Given the description of an element on the screen output the (x, y) to click on. 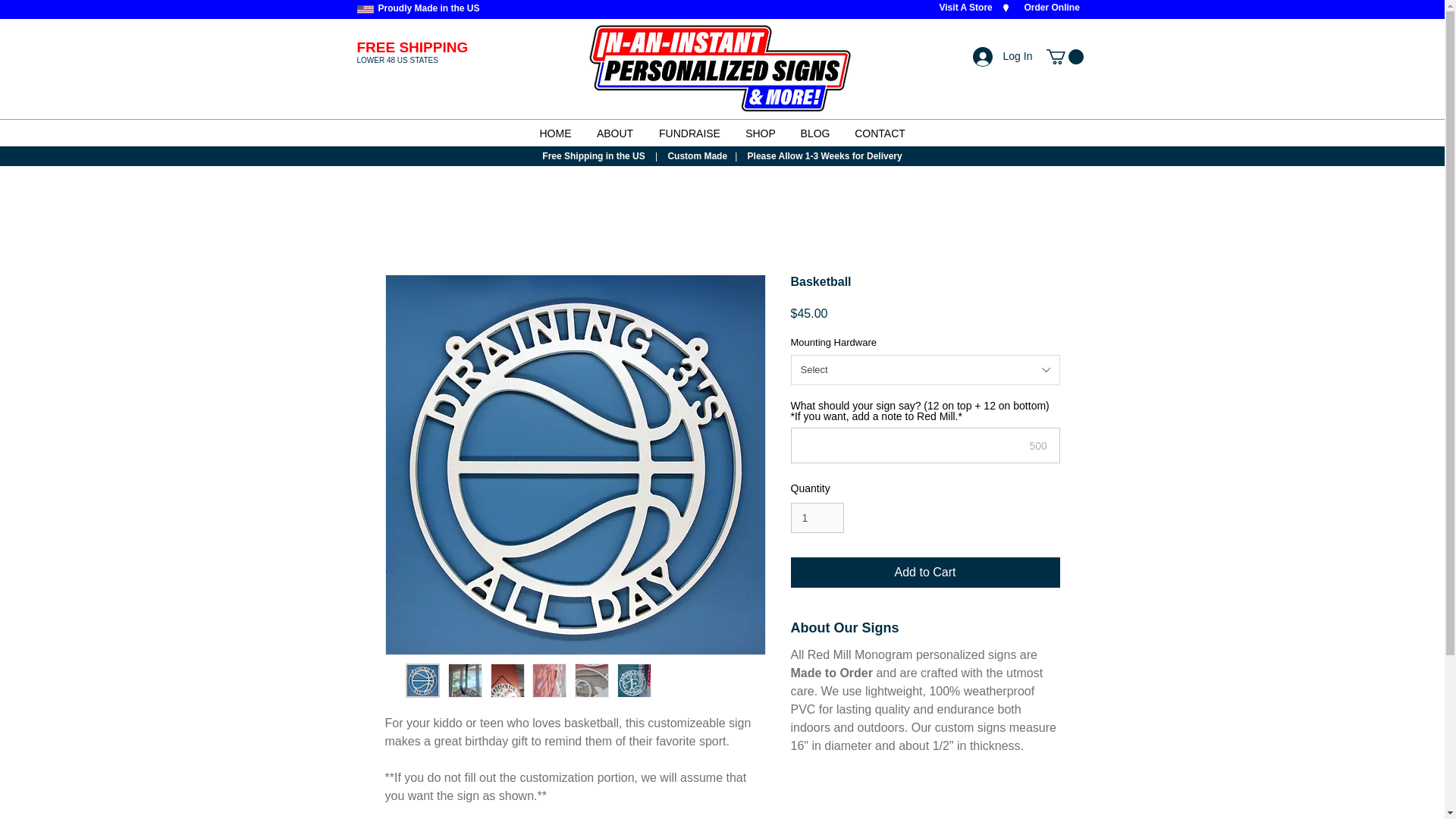
CONTACT (880, 133)
Order Online (1050, 7)
ABOUT (614, 133)
BLOG (815, 133)
HOME (555, 133)
1 (817, 517)
SHOP (760, 133)
Add to Cart (924, 572)
Log In (991, 56)
Select (924, 369)
FUNDRAISE (689, 133)
Visit A Store (965, 7)
